Given the description of an element on the screen output the (x, y) to click on. 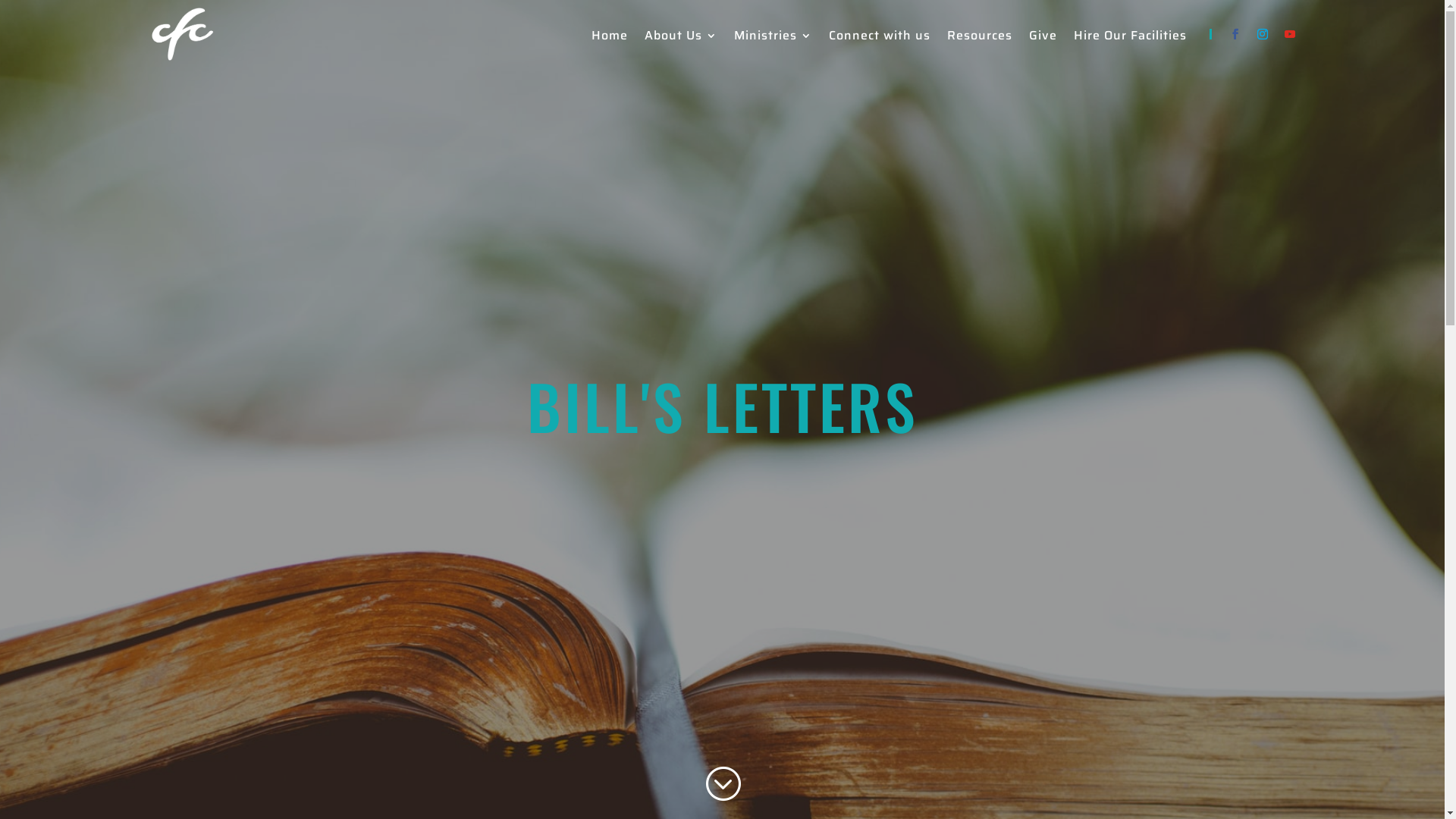
Follow on Facebook Element type: hover (1234, 33)
Hire Our Facilities Element type: text (1129, 38)
About Us Element type: text (680, 38)
Give Element type: text (1042, 38)
Home Element type: text (609, 38)
Connect with us Element type: text (878, 38)
Follow on Instagram Element type: hover (1261, 33)
Resources Element type: text (978, 38)
cfc Element type: hover (181, 33)
; Element type: text (721, 783)
Ministries Element type: text (773, 38)
Follow on Youtube Element type: hover (1288, 33)
